Given the description of an element on the screen output the (x, y) to click on. 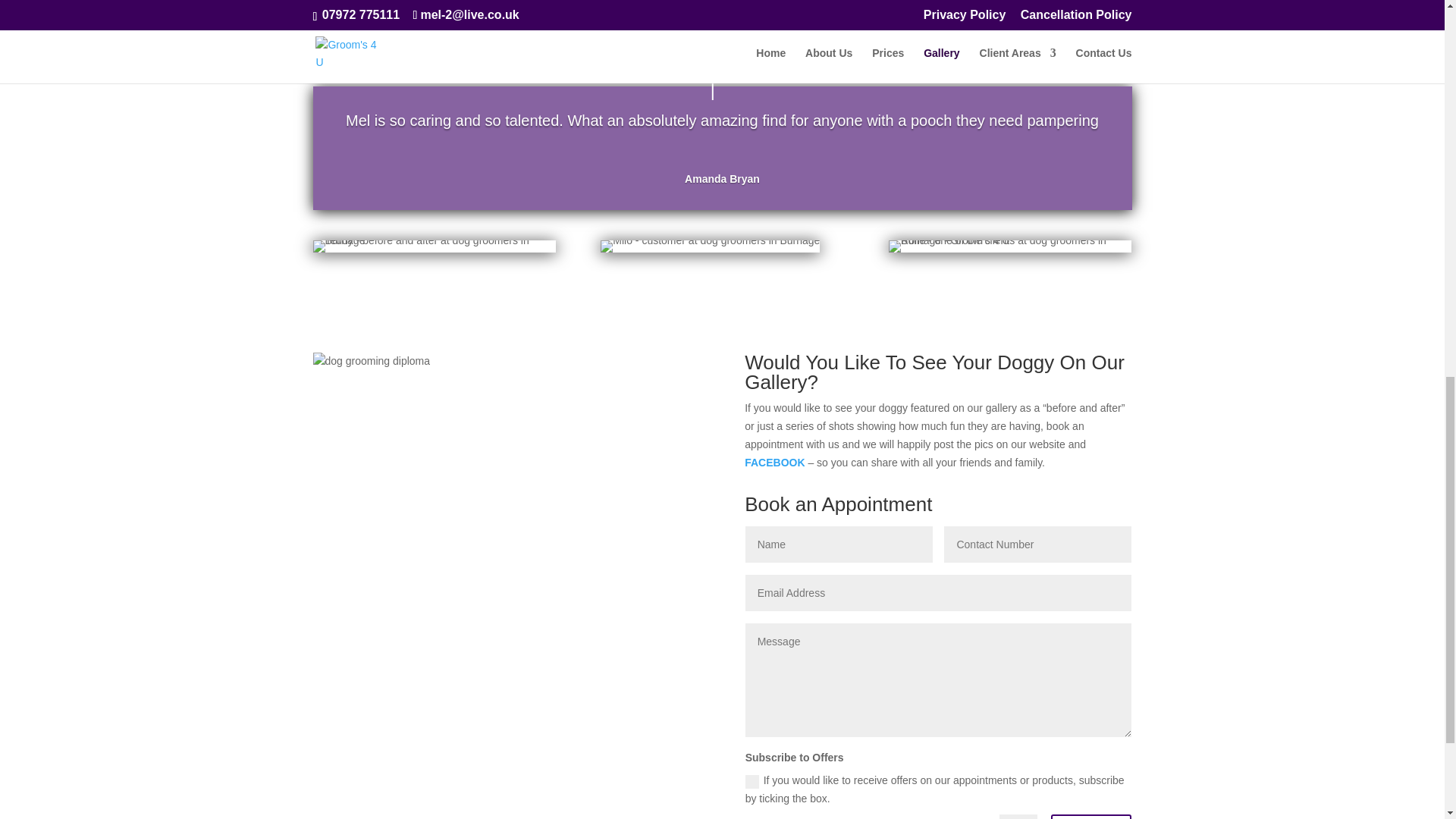
FACEBOOK (774, 462)
Grooms 4 U Facebook page (774, 462)
Submit (1091, 816)
